Given the description of an element on the screen output the (x, y) to click on. 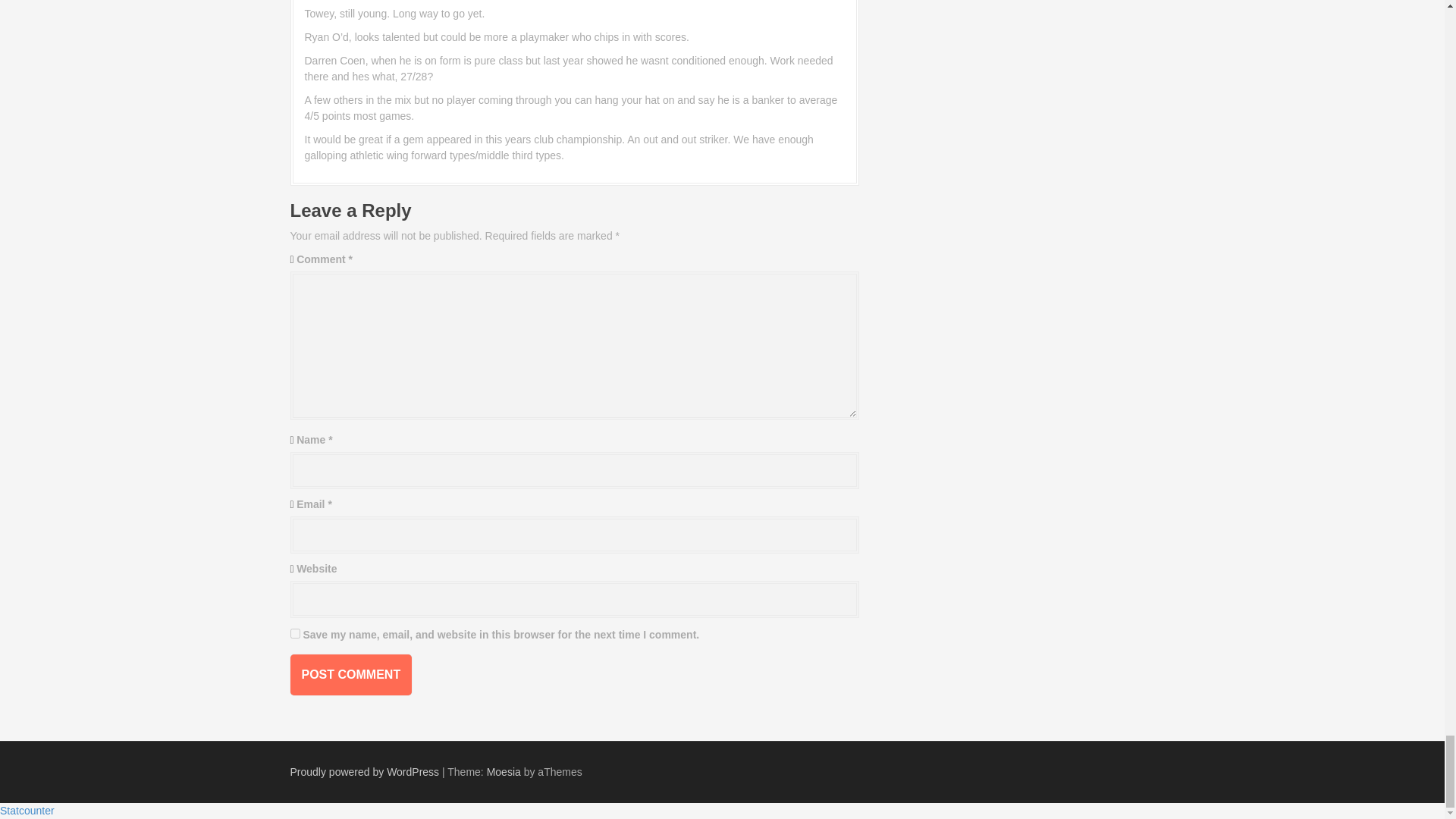
yes (294, 633)
Post Comment (350, 674)
